Given the description of an element on the screen output the (x, y) to click on. 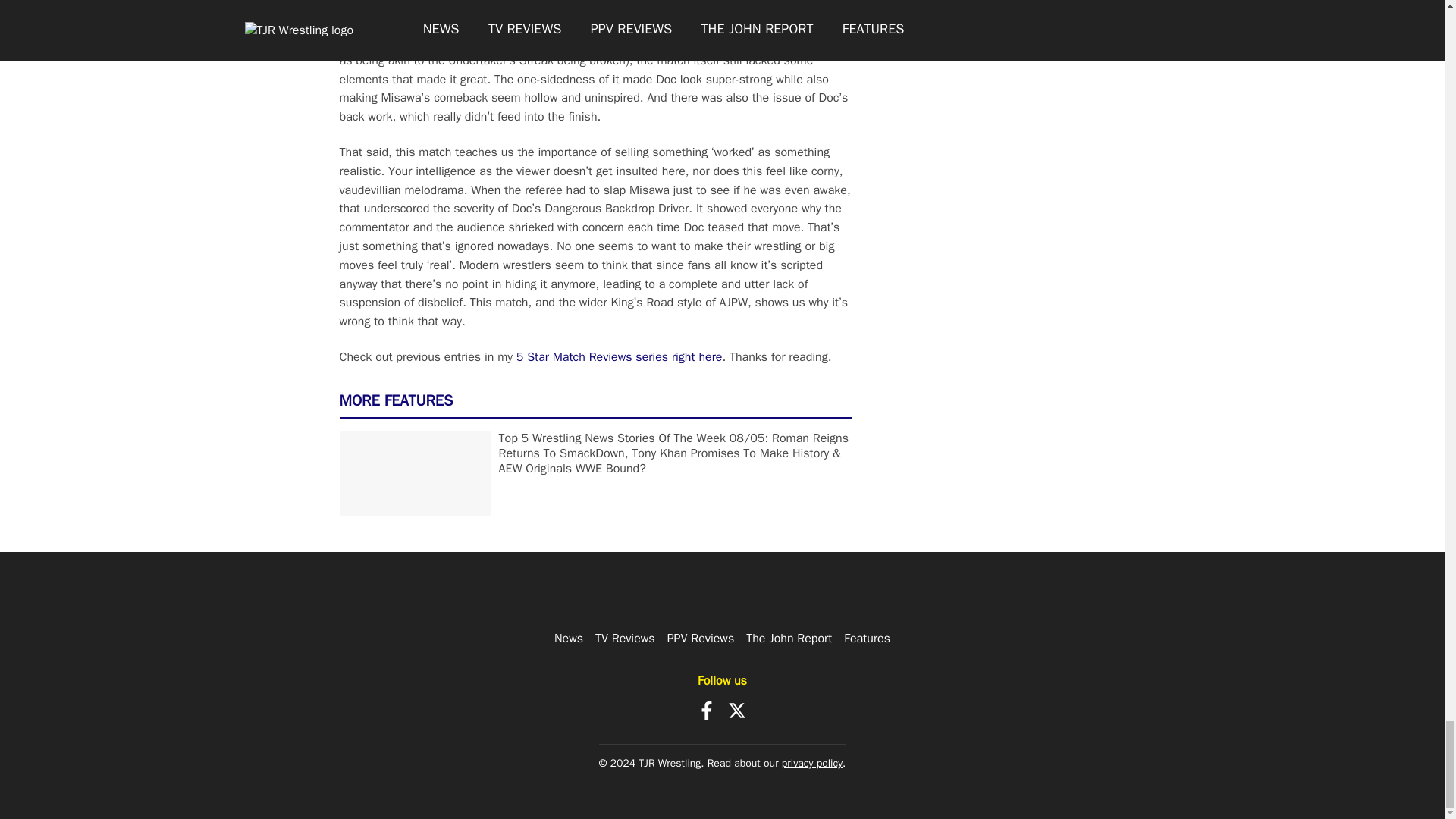
Facebook (706, 710)
X (736, 710)
5 Star Match Reviews series right here (619, 356)
